Given the description of an element on the screen output the (x, y) to click on. 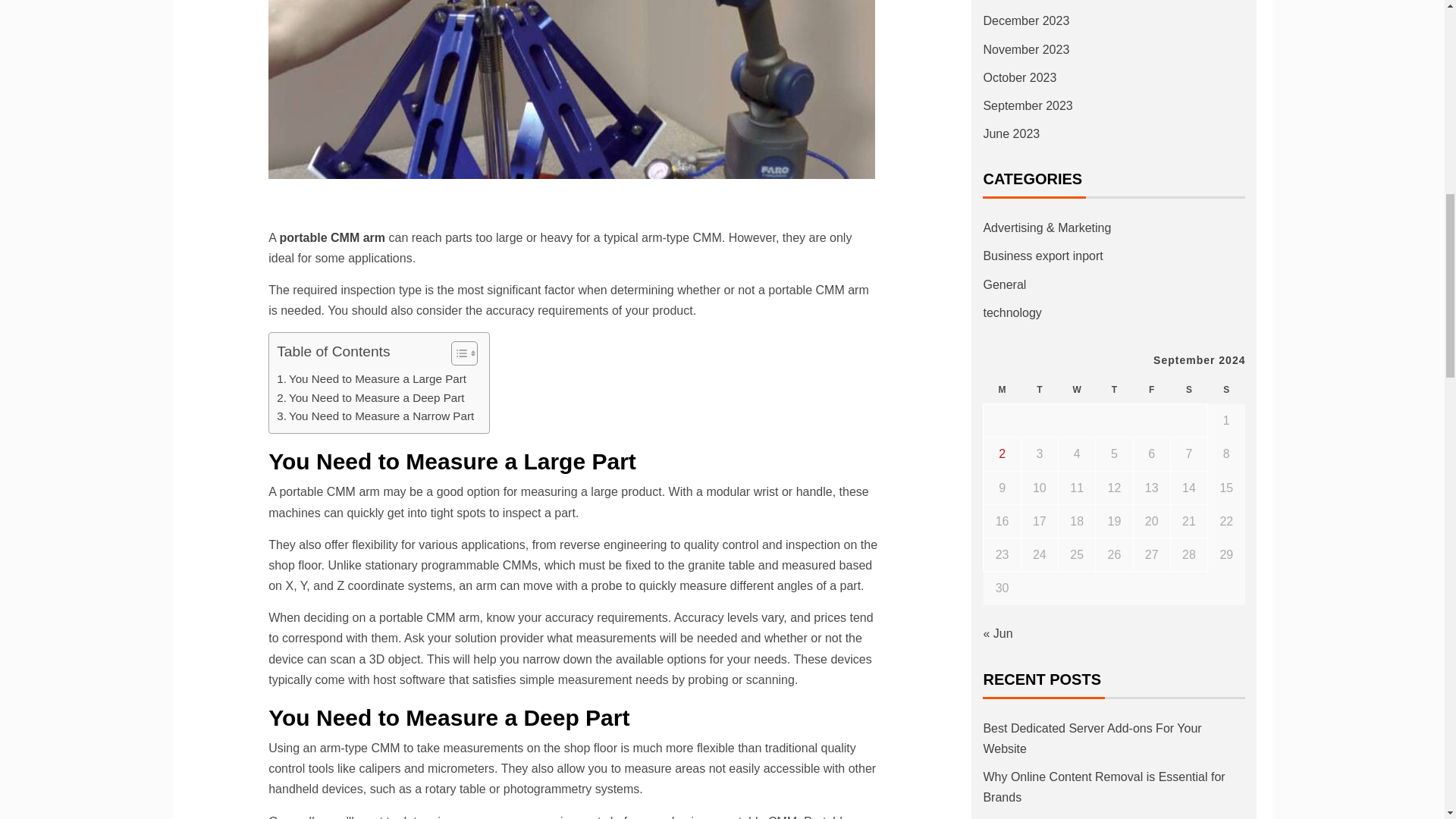
You Need to Measure a Narrow Part (375, 416)
You Need to Measure a Narrow Part (375, 416)
Monday (1002, 389)
You Need to Measure a Large Part (370, 379)
You Need to Measure a Deep Part (370, 398)
Wednesday (1077, 389)
Friday (1151, 389)
You Need to Measure a Deep Part (370, 398)
Thursday (1114, 389)
You Need to Measure a Large Part (370, 379)
